Given the description of an element on the screen output the (x, y) to click on. 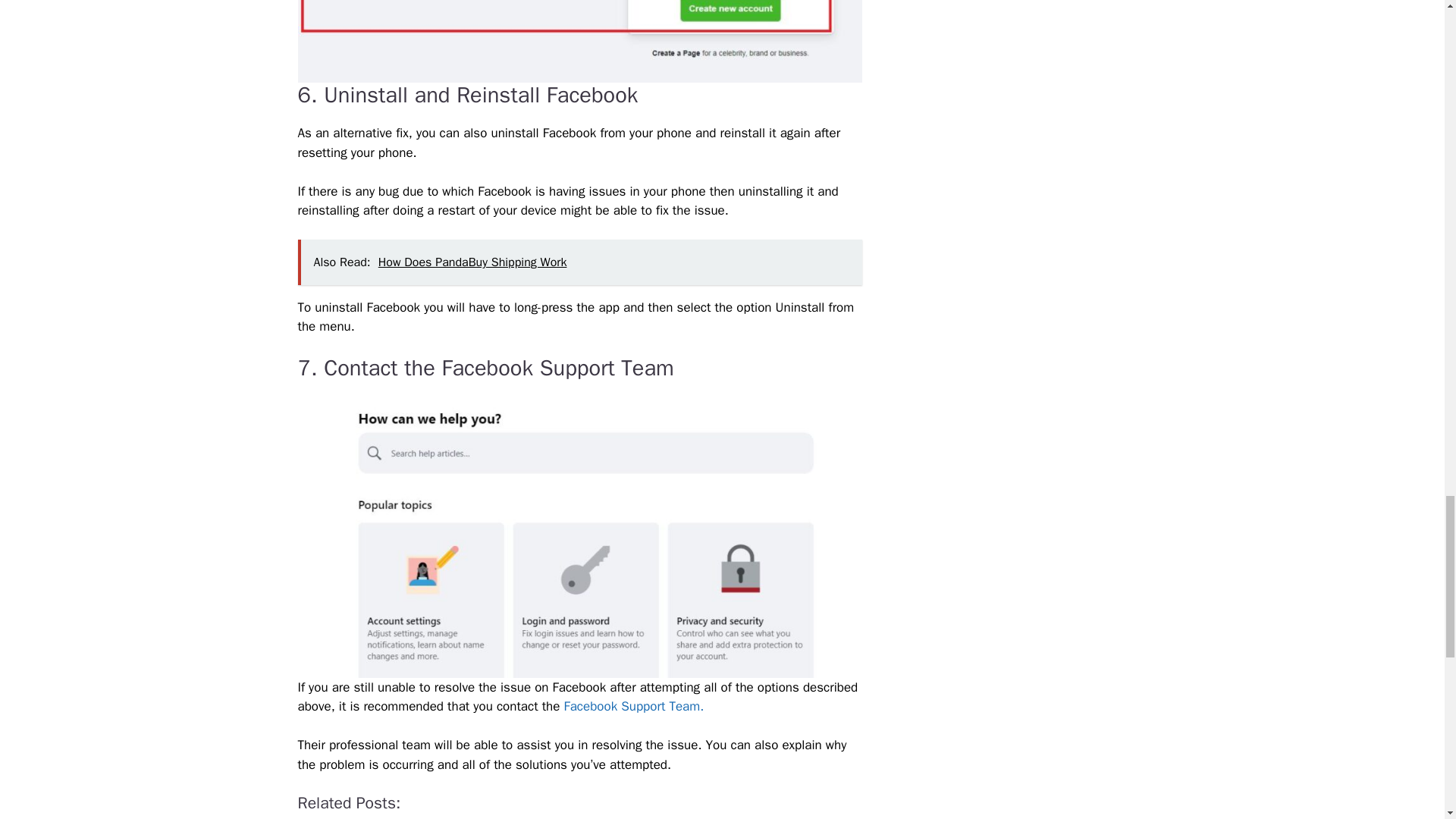
Also Read:  How Does PandaBuy Shipping Work (579, 262)
Facebook Support Team. (634, 706)
